Given the description of an element on the screen output the (x, y) to click on. 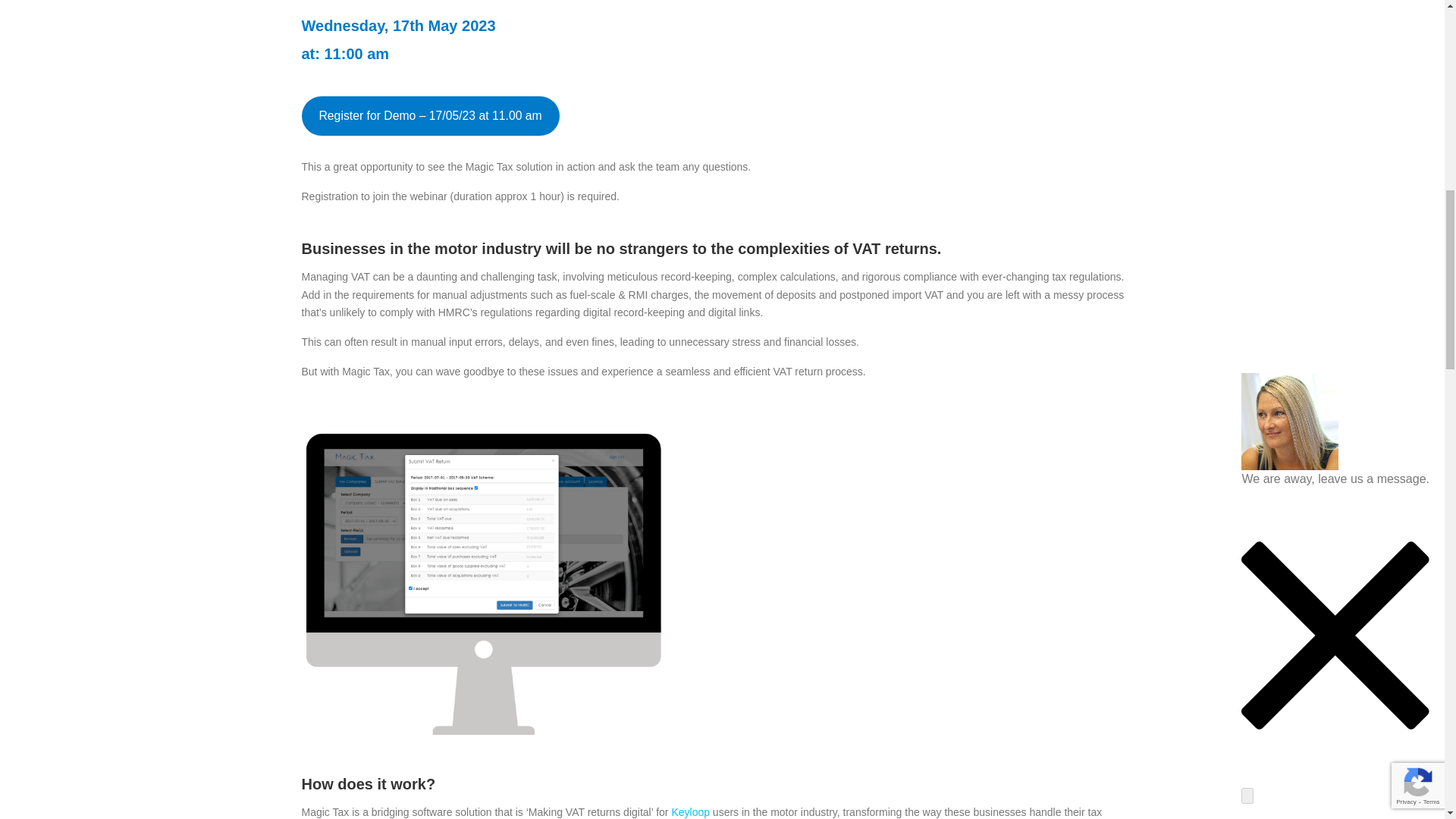
Keyloop (690, 811)
